Given the description of an element on the screen output the (x, y) to click on. 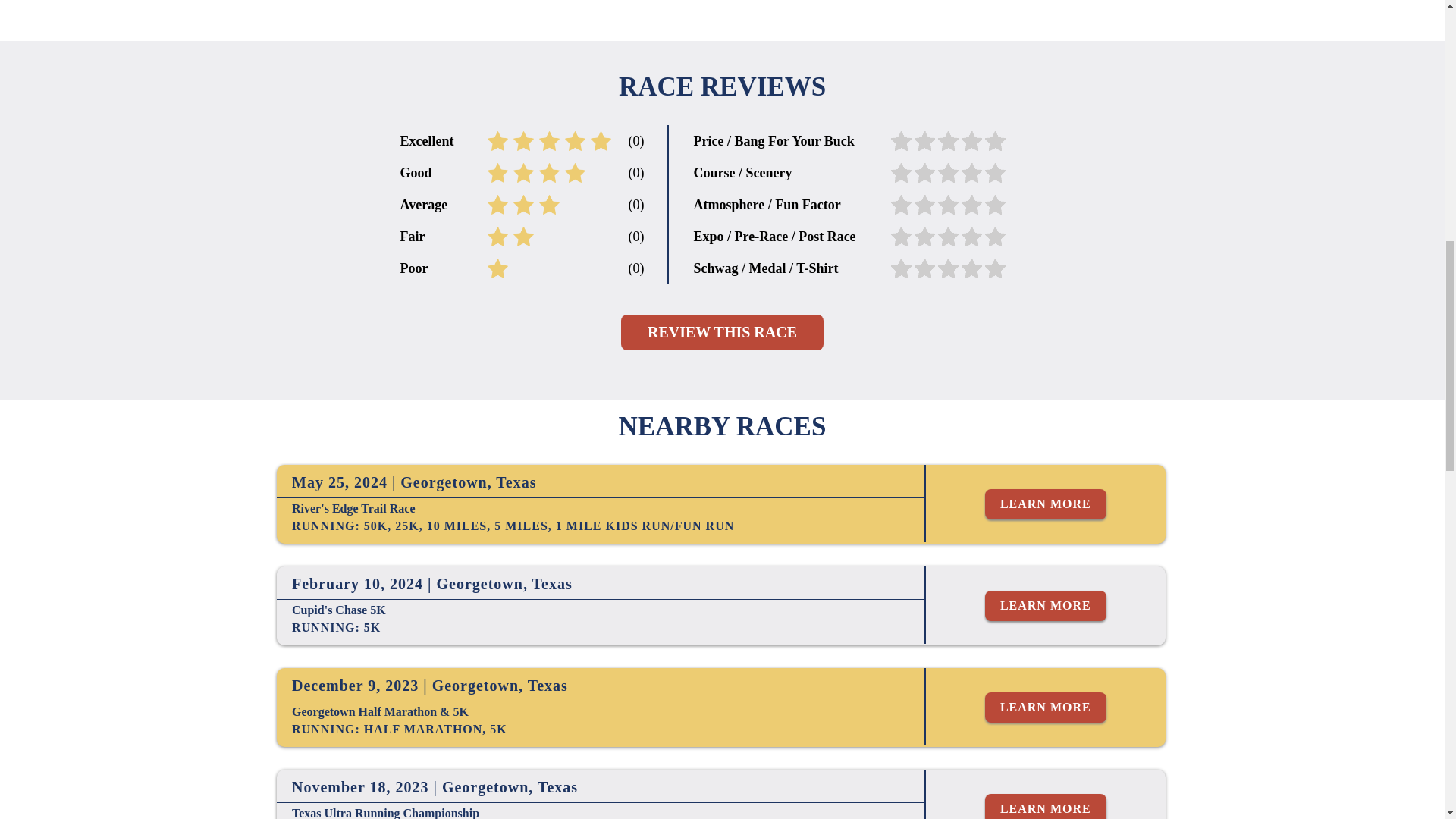
LEARN MORE (1045, 806)
LEARN MORE (1045, 503)
LEARN MORE (1045, 707)
LEARN MORE (1045, 605)
REVIEW THIS RACE (722, 332)
